Given the description of an element on the screen output the (x, y) to click on. 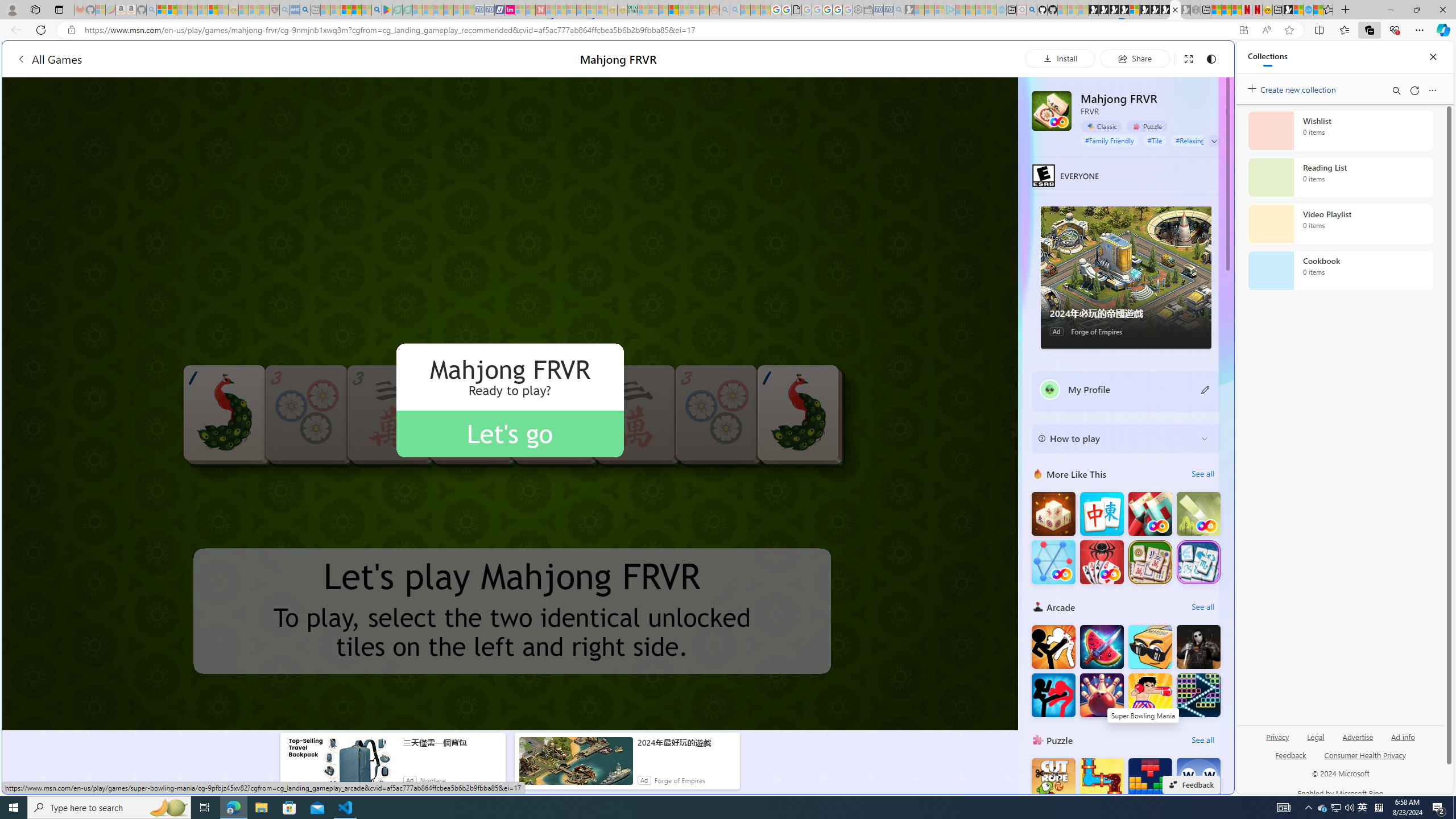
Search or enter web address (922, 108)
Frequently visited (965, 151)
